Given the description of an element on the screen output the (x, y) to click on. 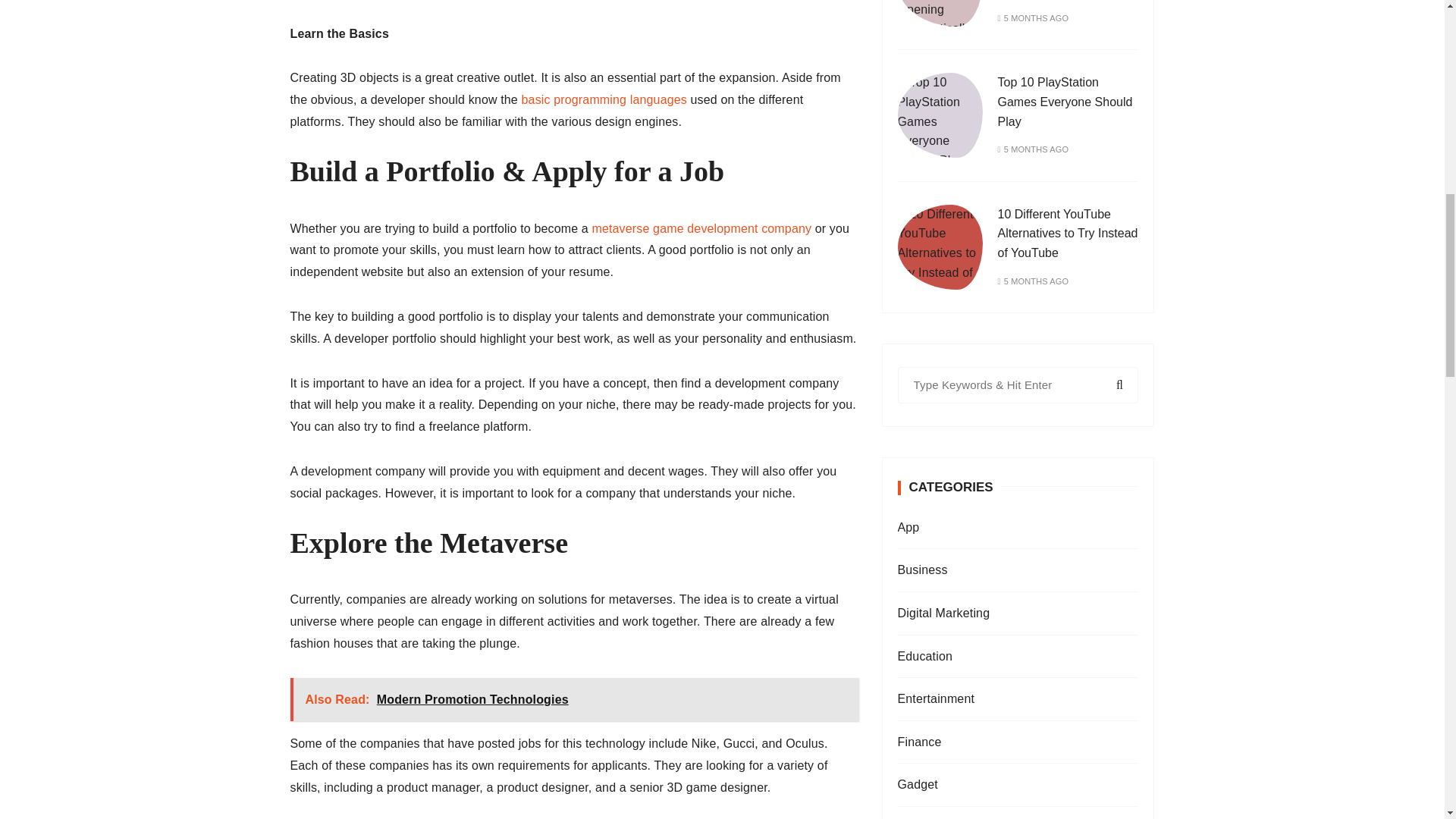
metaverse game development company (700, 228)
basic programming languages (604, 99)
Also Read:  Modern Promotion Technologies (574, 699)
